Given the description of an element on the screen output the (x, y) to click on. 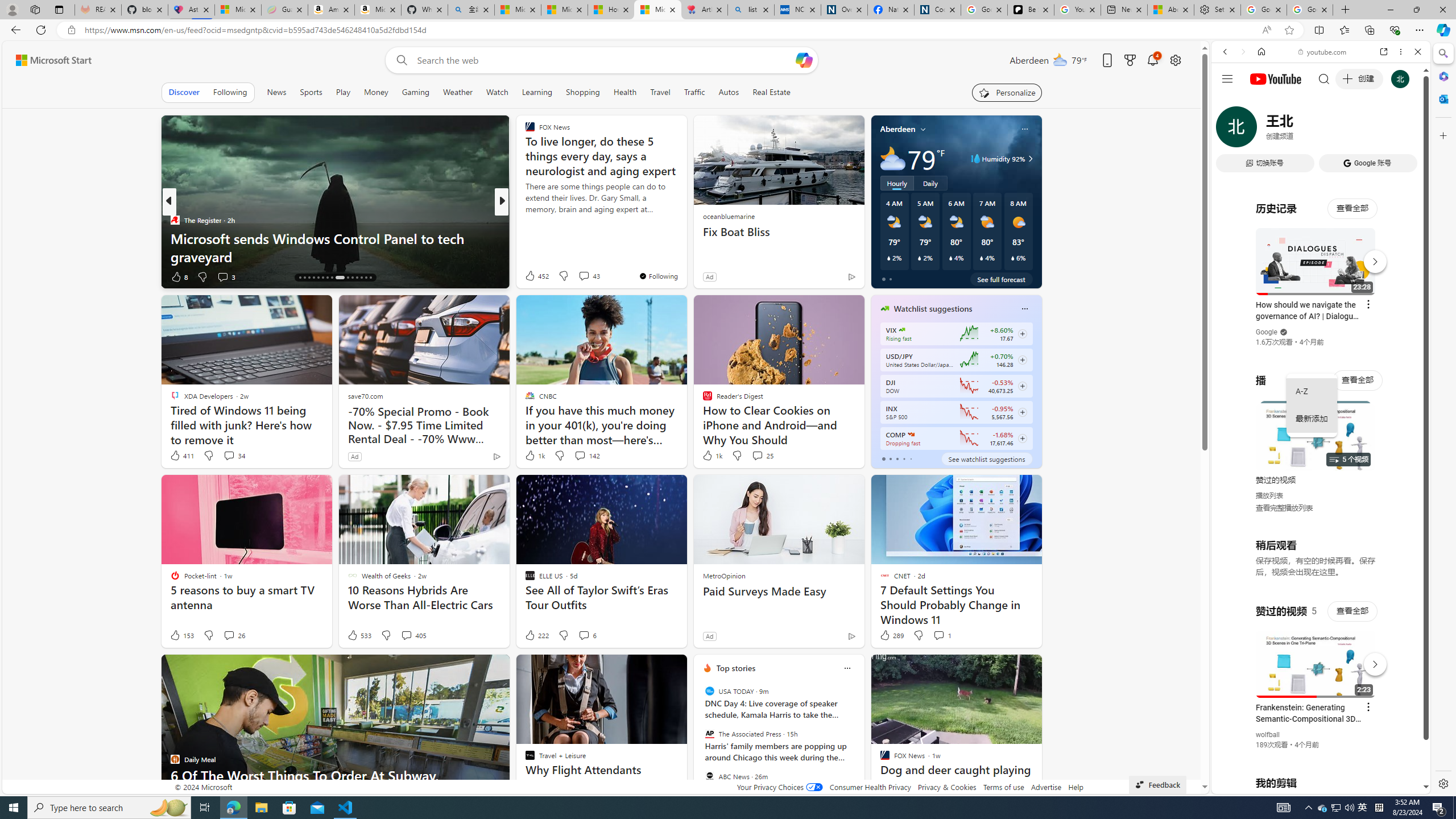
US[ju] (1249, 785)
AutomationID: tab-20 (317, 277)
AutomationID: tab-27 (356, 277)
Autos (728, 92)
Search videos from youtube.com (1299, 373)
YouTube (1315, 655)
Learning (537, 92)
NASDAQ (910, 434)
MetroOpinion (723, 574)
